Given the description of an element on the screen output the (x, y) to click on. 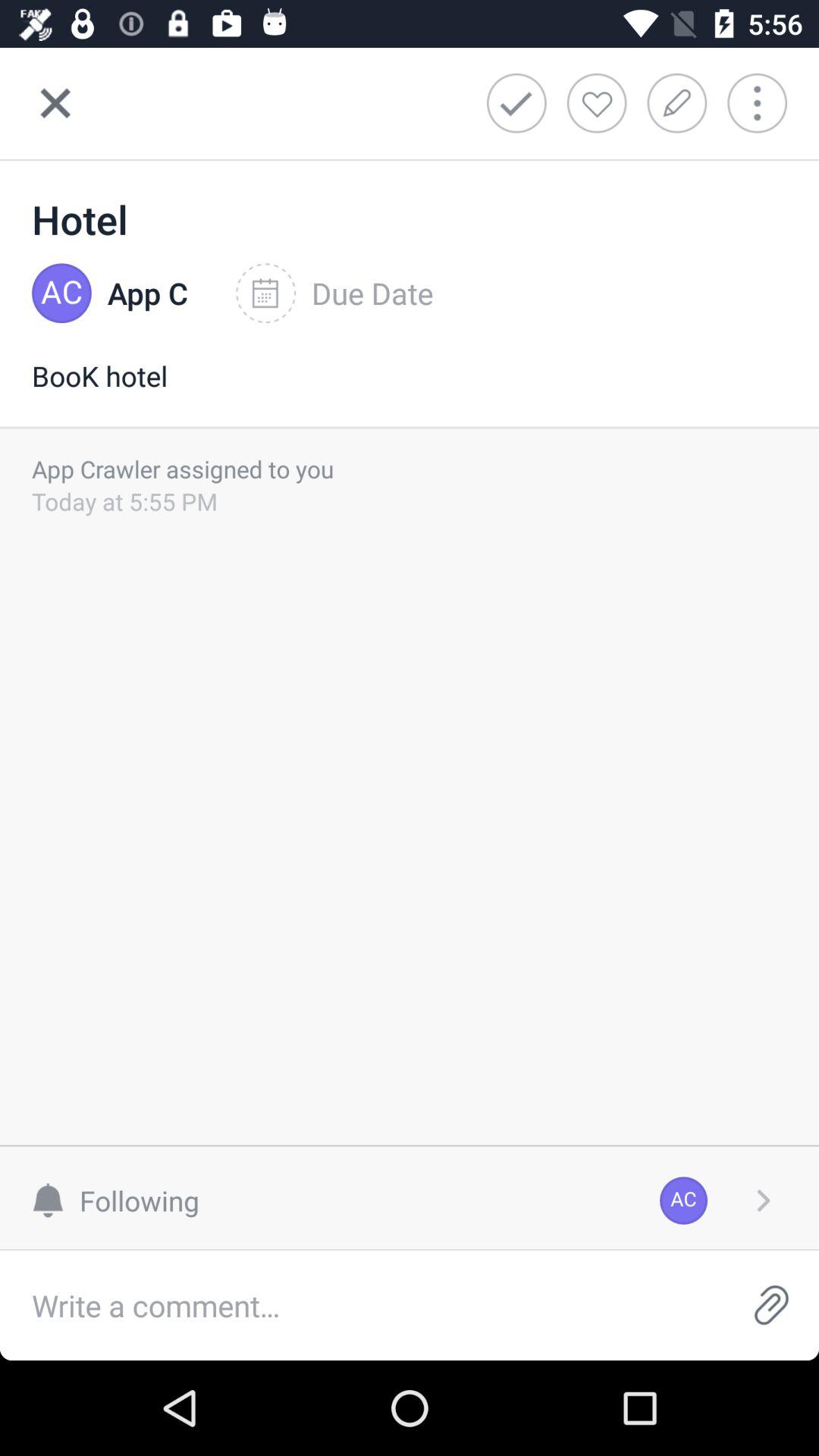
turn on following at the bottom left corner (123, 1200)
